Given the description of an element on the screen output the (x, y) to click on. 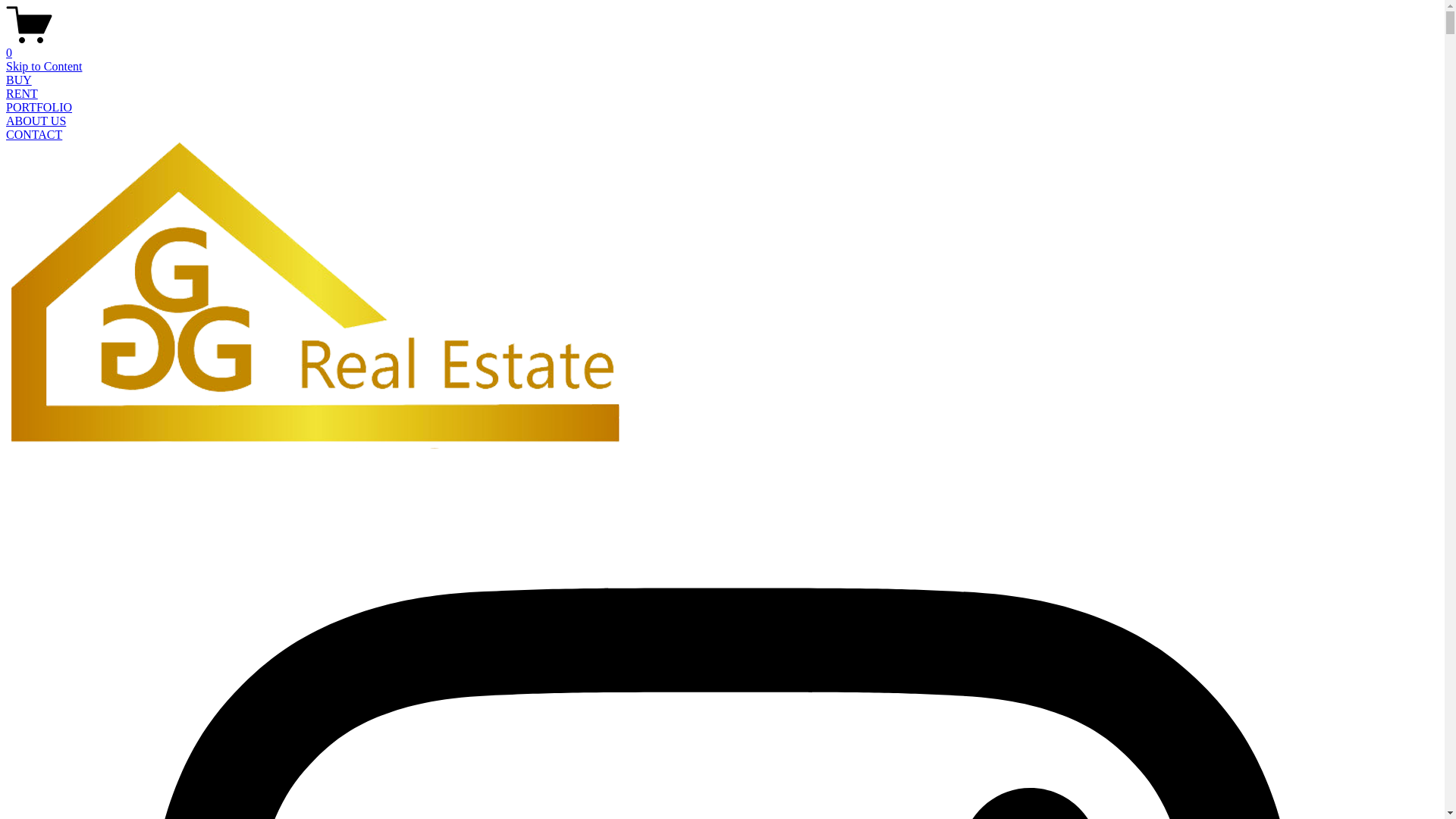
RENT Element type: text (21, 93)
BUY Element type: text (18, 79)
ABOUT US Element type: text (35, 120)
0 Element type: text (722, 45)
PORTFOLIO Element type: text (39, 106)
CONTACT Element type: text (34, 134)
Skip to Content Element type: text (43, 65)
